Given the description of an element on the screen output the (x, y) to click on. 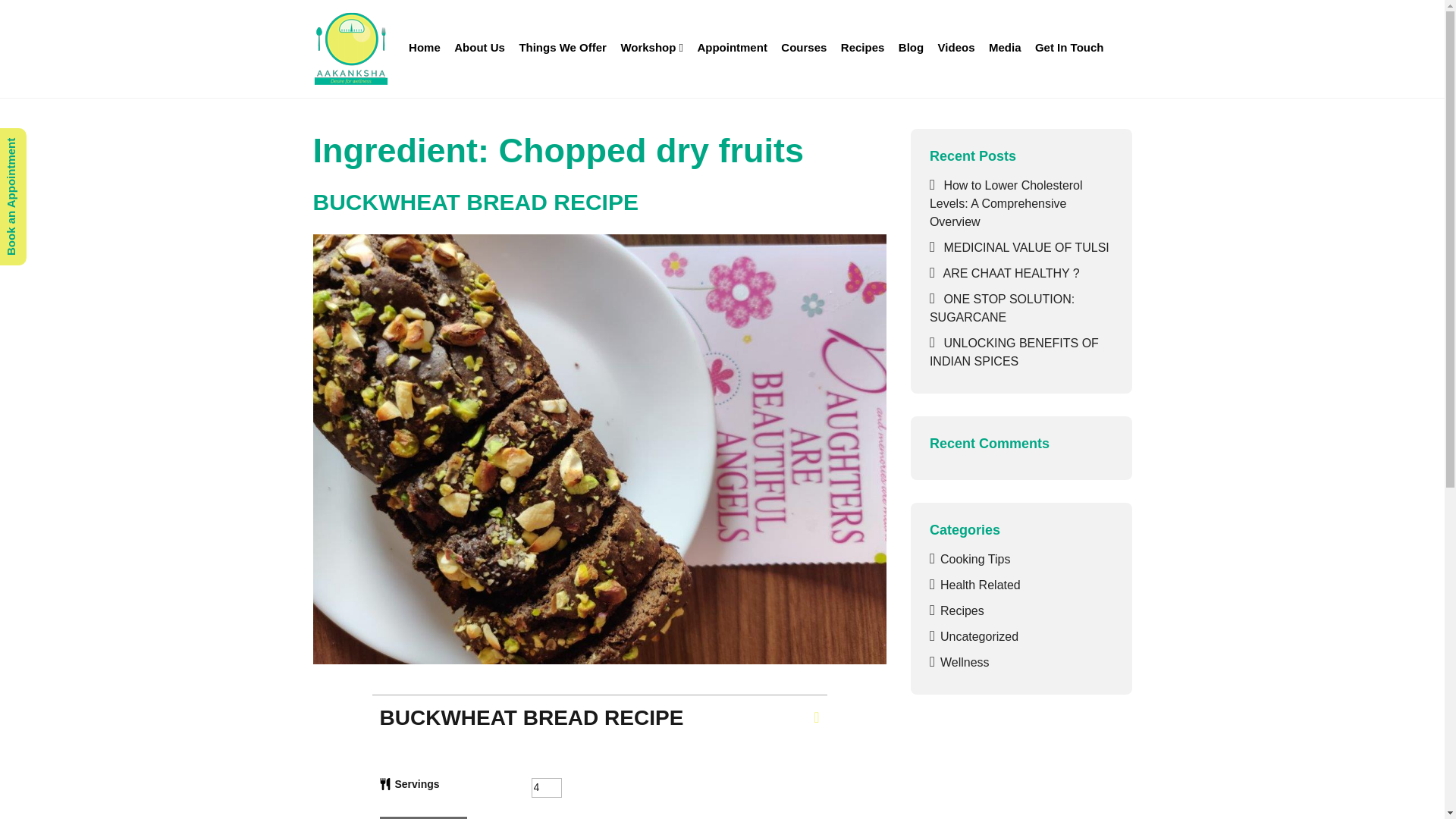
About Us (478, 48)
BUCKWHEAT BREAD RECIPE (475, 201)
Media (1005, 48)
4 (545, 787)
How to Lower Cholesterol Levels: A Comprehensive Overview (1006, 203)
ARE CHAAT HEALTHY ? (1010, 273)
Appointment (731, 48)
Courses (803, 48)
UNLOCKING BENEFITS OF INDIAN SPICES (1014, 351)
Blog (911, 48)
Recipes (862, 48)
MEDICINAL VALUE OF TULSI (1025, 246)
Cooking Tips (975, 558)
Home (424, 48)
Things We Offer (562, 48)
